Given the description of an element on the screen output the (x, y) to click on. 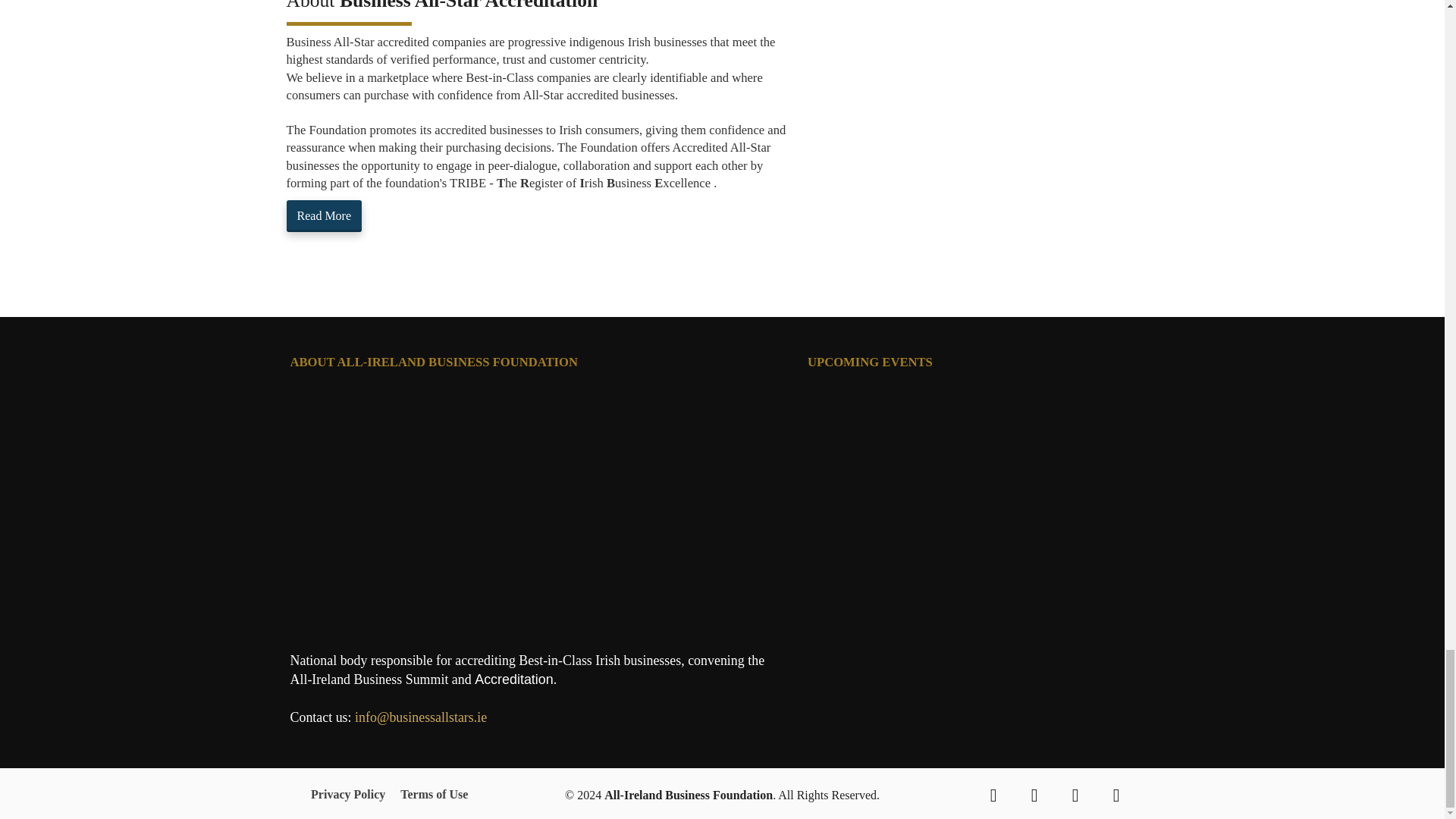
Terms of Use (430, 794)
Read More (324, 215)
Privacy Policy (352, 794)
